Given the description of an element on the screen output the (x, y) to click on. 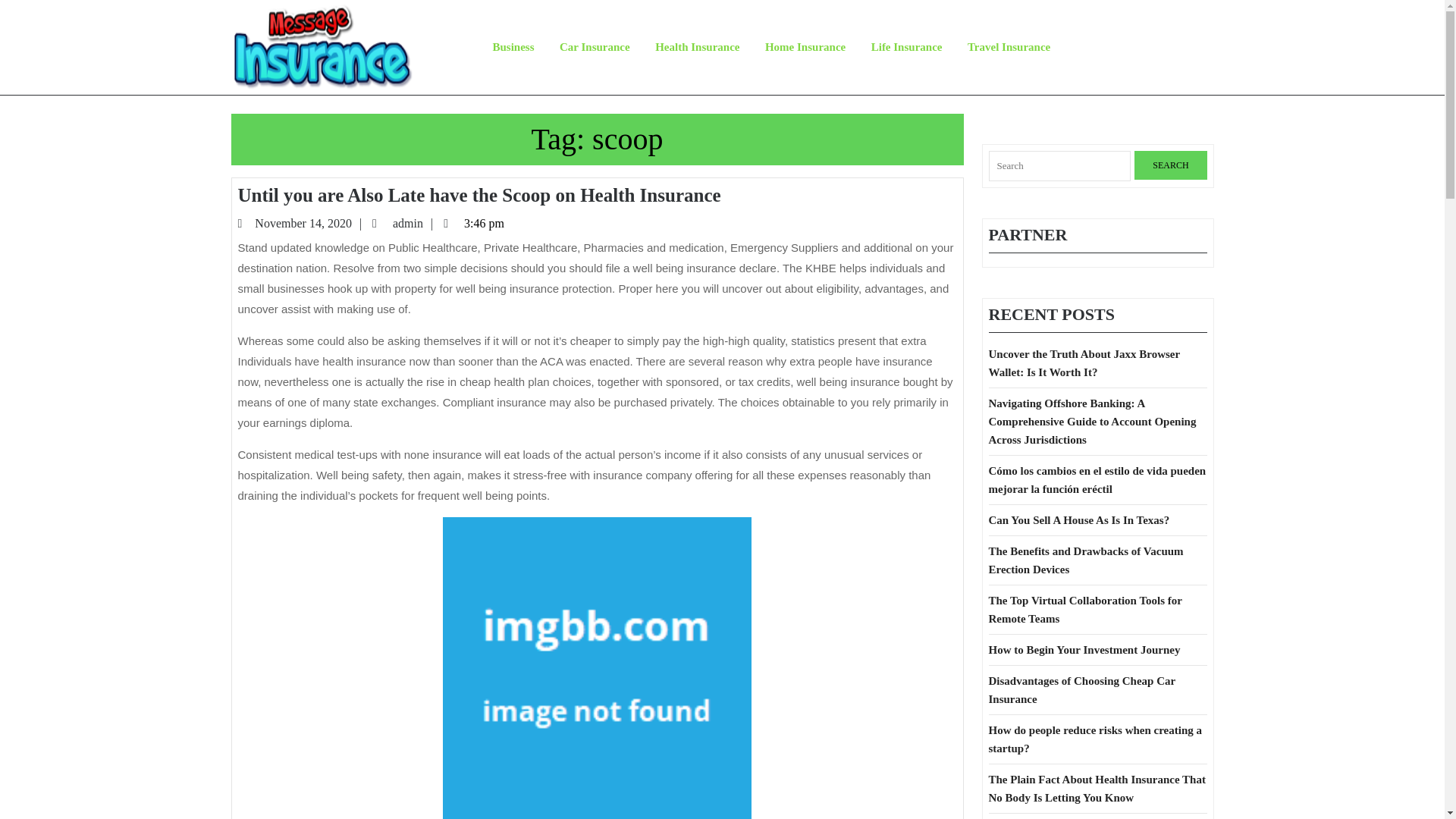
Search (1170, 164)
How to Begin Your Investment Journey (1084, 649)
Search (1200, 46)
Health Insurance (697, 47)
Business (512, 47)
Travel Insurance (1008, 47)
Search (1170, 164)
Search (414, 223)
Disadvantages of Choosing Cheap Car Insurance (1170, 164)
Can You Sell A House As Is In Texas? (1081, 689)
Uncover the Truth About Jaxx Browser Wallet: Is It Worth It? (1079, 520)
Car Insurance (1083, 363)
Life Insurance (595, 47)
